Given the description of an element on the screen output the (x, y) to click on. 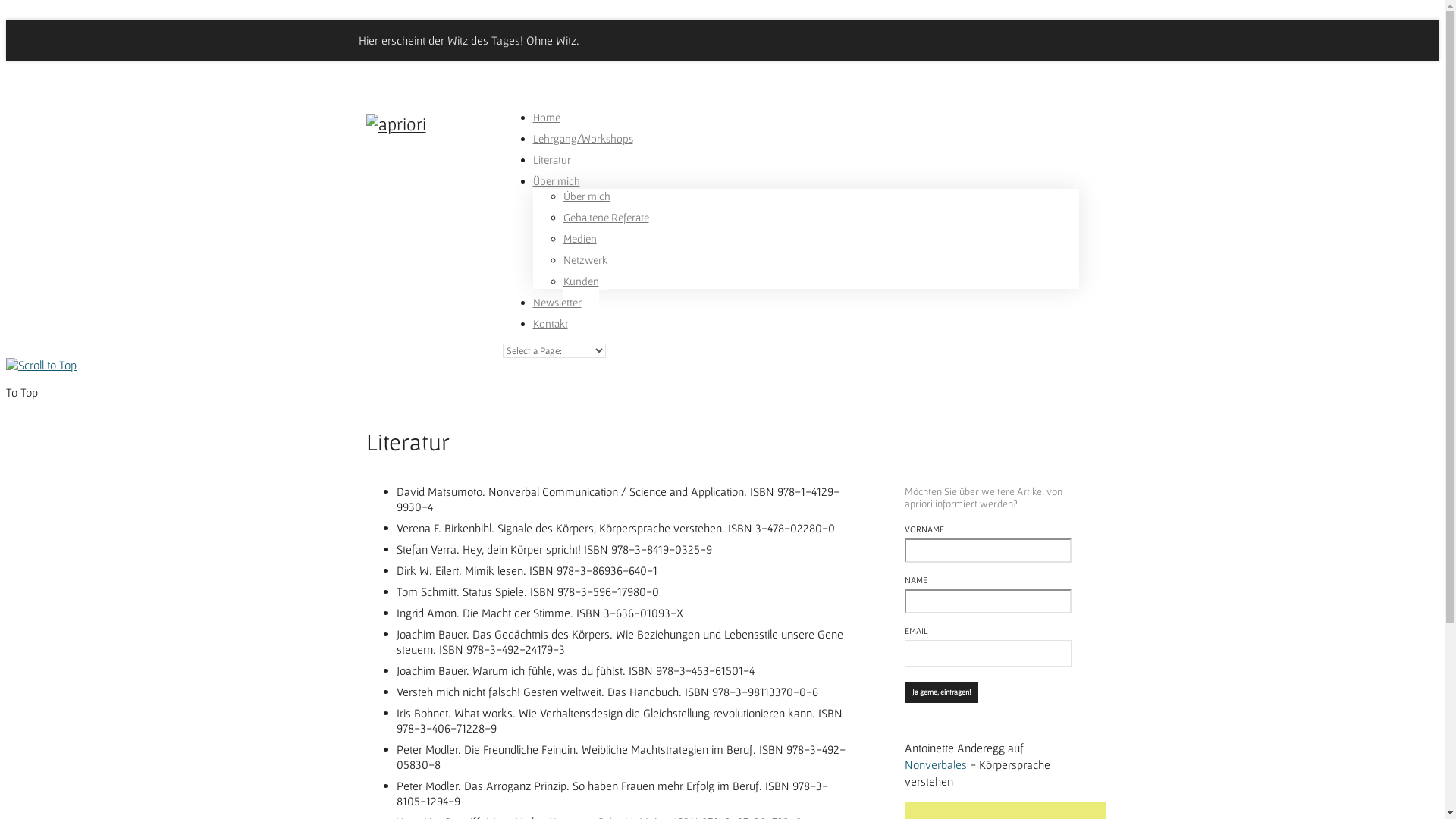
Literatur Element type: text (551, 171)
Kontakt Element type: text (549, 335)
Lehrgang/Workshops Element type: text (582, 150)
Ja gerne, eintragen! Element type: text (940, 691)
Gehaltene Referate Element type: text (605, 228)
Medien Element type: text (579, 250)
Home Element type: text (545, 128)
Newsletter Element type: text (556, 313)
Nonverbales Element type: text (934, 764)
Netzwerk Element type: text (584, 271)
Kunden Element type: text (580, 292)
